Given the description of an element on the screen output the (x, y) to click on. 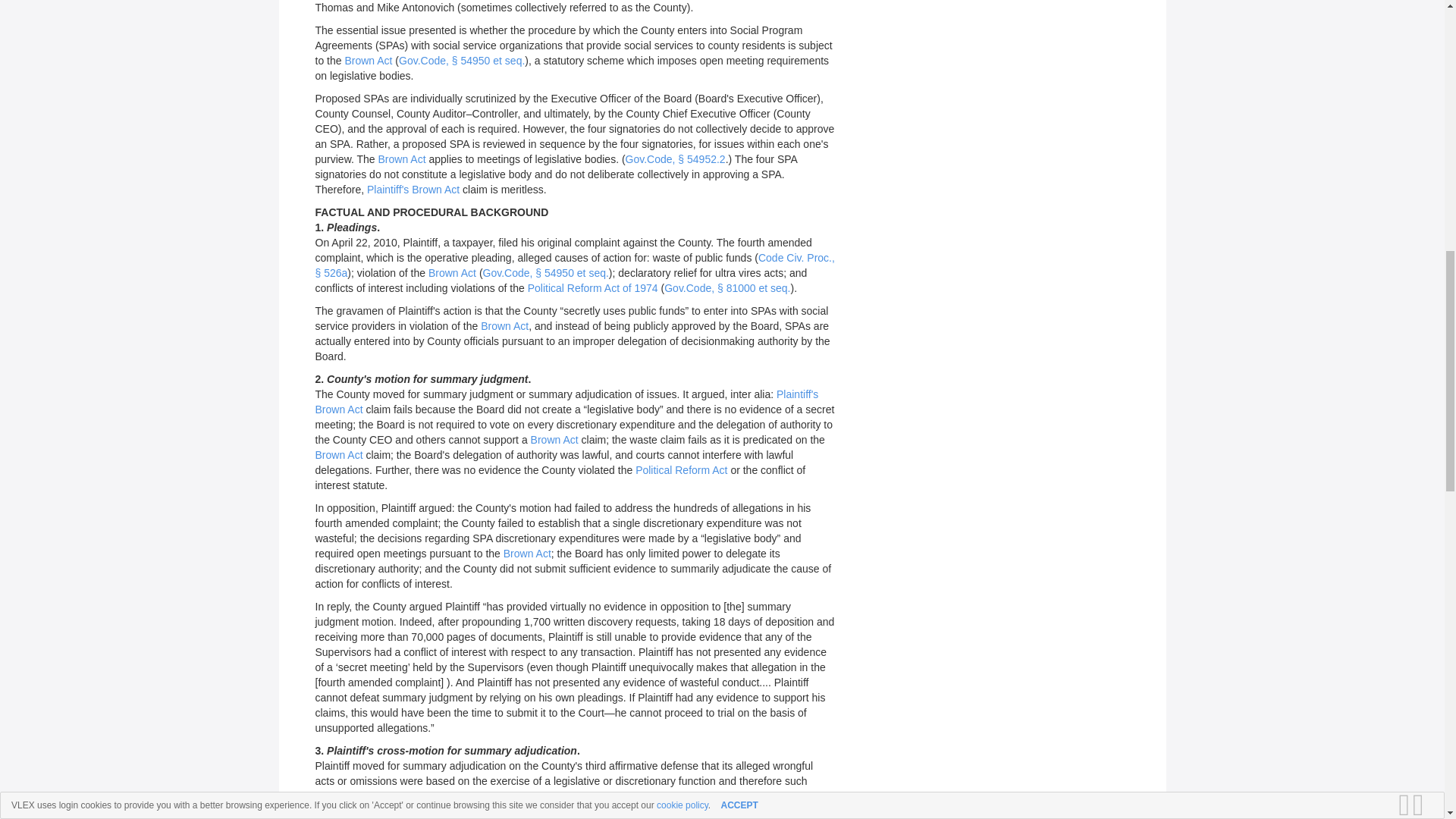
Brown Act (554, 439)
Brown Act (527, 553)
Plaintiff's Brown Act (566, 401)
Brown Act (402, 159)
Plaintiff's Brown Act (413, 189)
Political Reform Act (680, 469)
Brown Act (338, 454)
Brown Act (504, 326)
Political Reform Act of 1974 (592, 287)
Brown Act (452, 272)
Brown Act (367, 60)
